Given the description of an element on the screen output the (x, y) to click on. 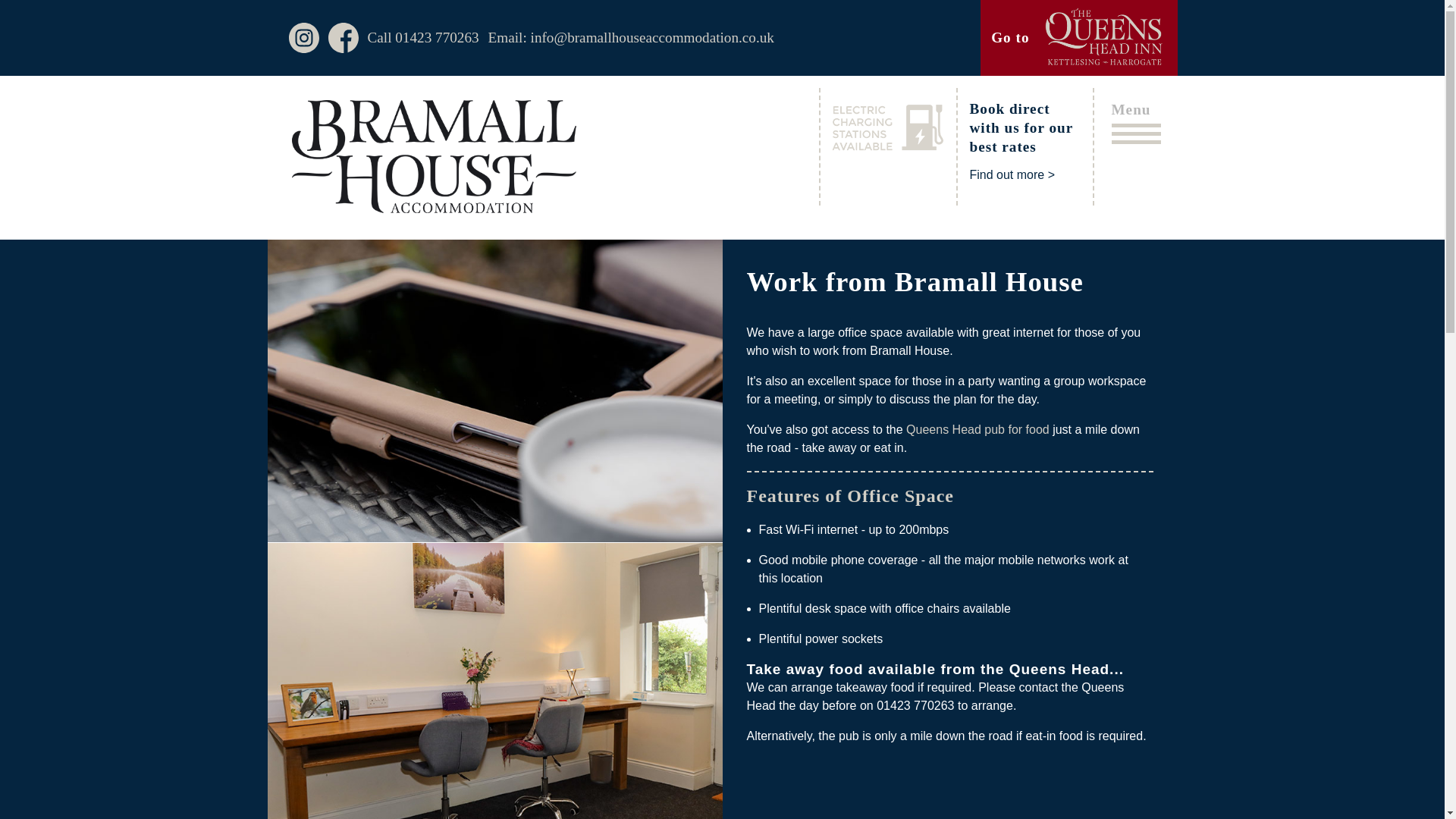
Queens Head pub for food (977, 429)
Menu (1136, 121)
Call 01423 770263 (422, 37)
Visit us on Facebook (342, 37)
Visit us on Instagram (303, 37)
Telephone us on 01423 770263 (422, 37)
